Given the description of an element on the screen output the (x, y) to click on. 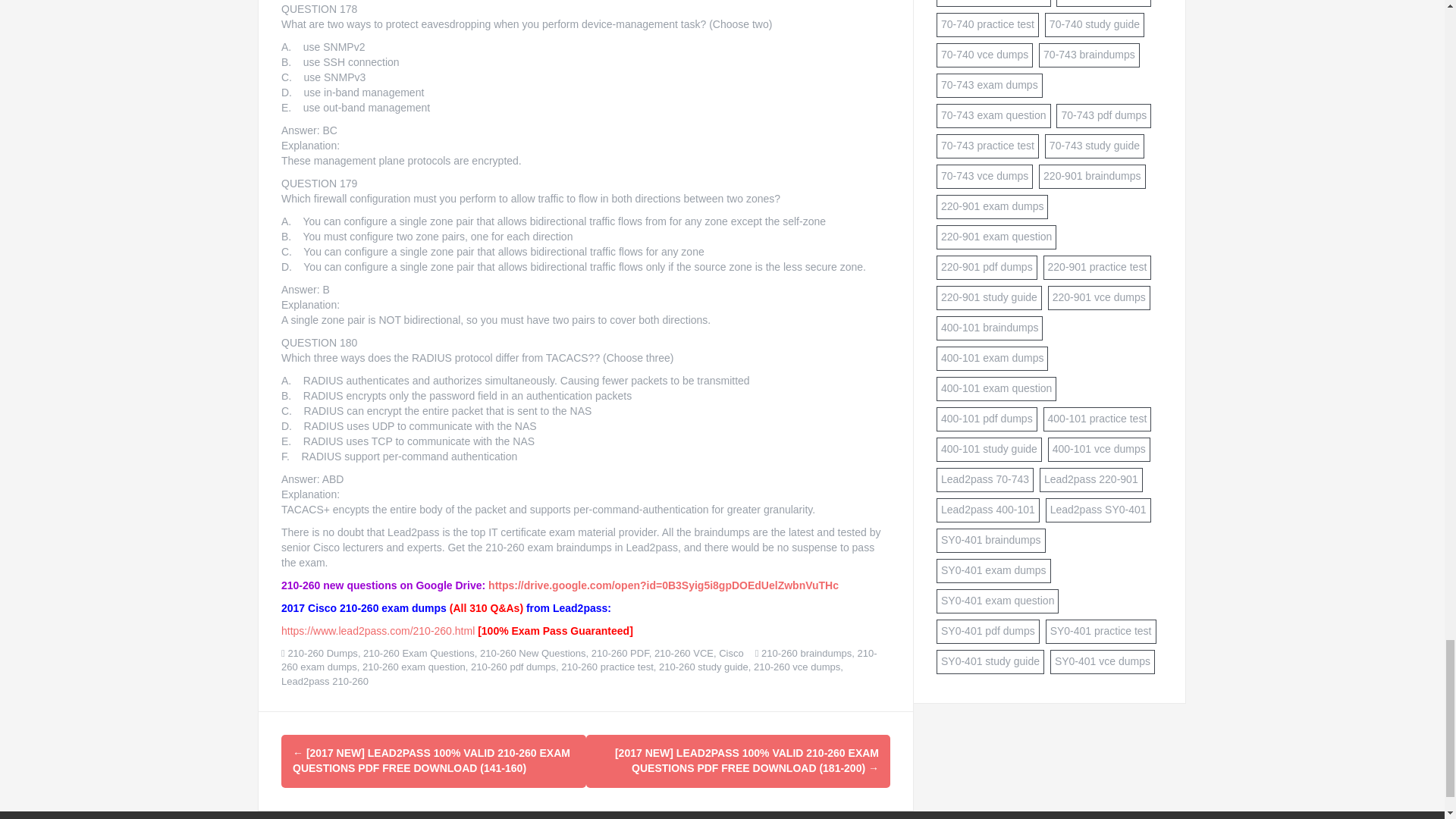
210-260 VCE (683, 653)
210-260 exam question (413, 666)
210-260 Exam Questions (418, 653)
Lead2pass 210-260 (324, 681)
210-260 PDF (620, 653)
210-260 braindumps (806, 653)
210-260 vce dumps (797, 666)
210-260 New Questions (532, 653)
210-260 Dumps (322, 653)
Cisco (731, 653)
